Given the description of an element on the screen output the (x, y) to click on. 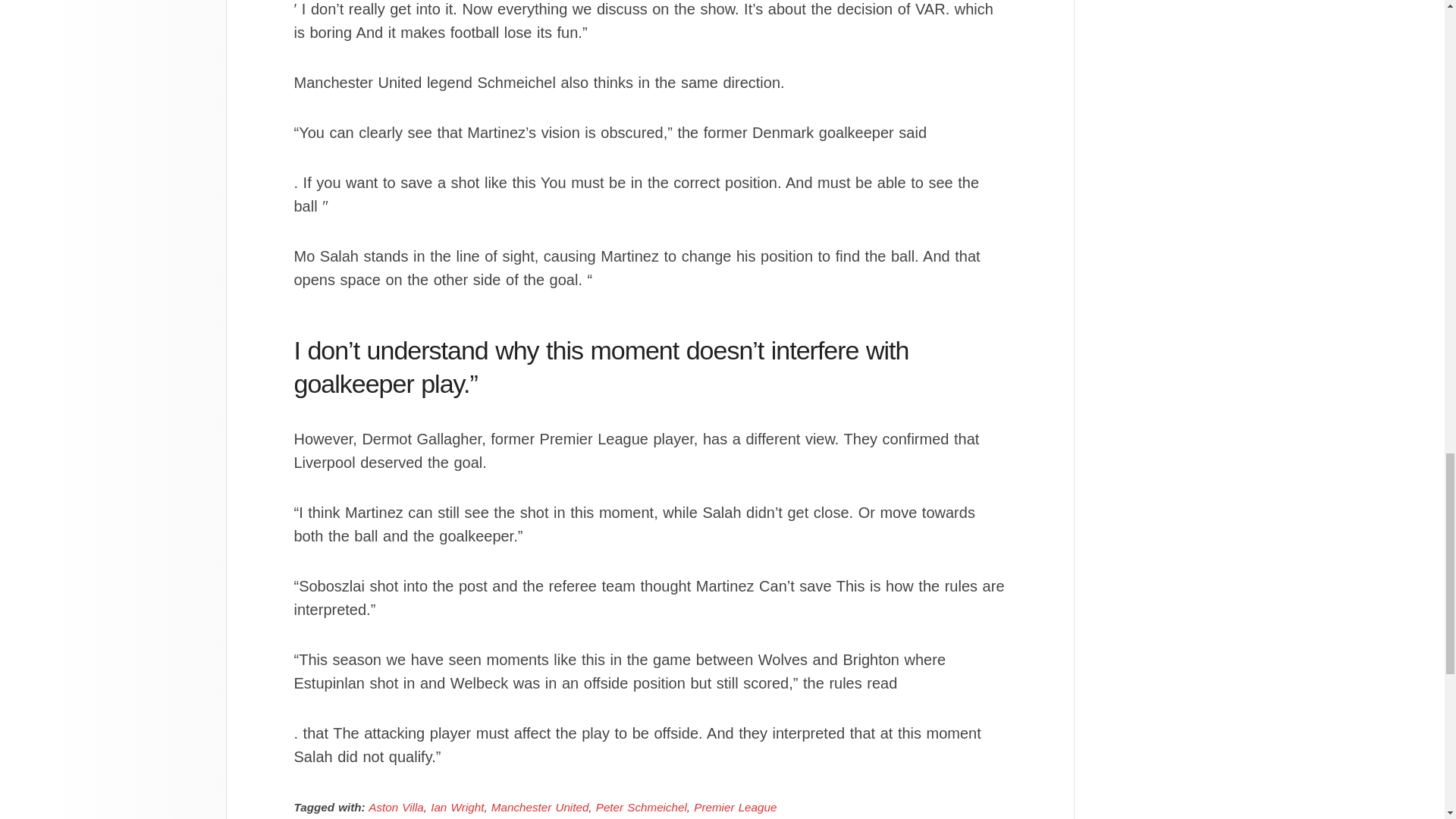
Ian Wright (456, 807)
Premier League (735, 807)
Aston Villa (395, 807)
Peter Schmeichel (641, 807)
Manchester United (540, 807)
